Given the description of an element on the screen output the (x, y) to click on. 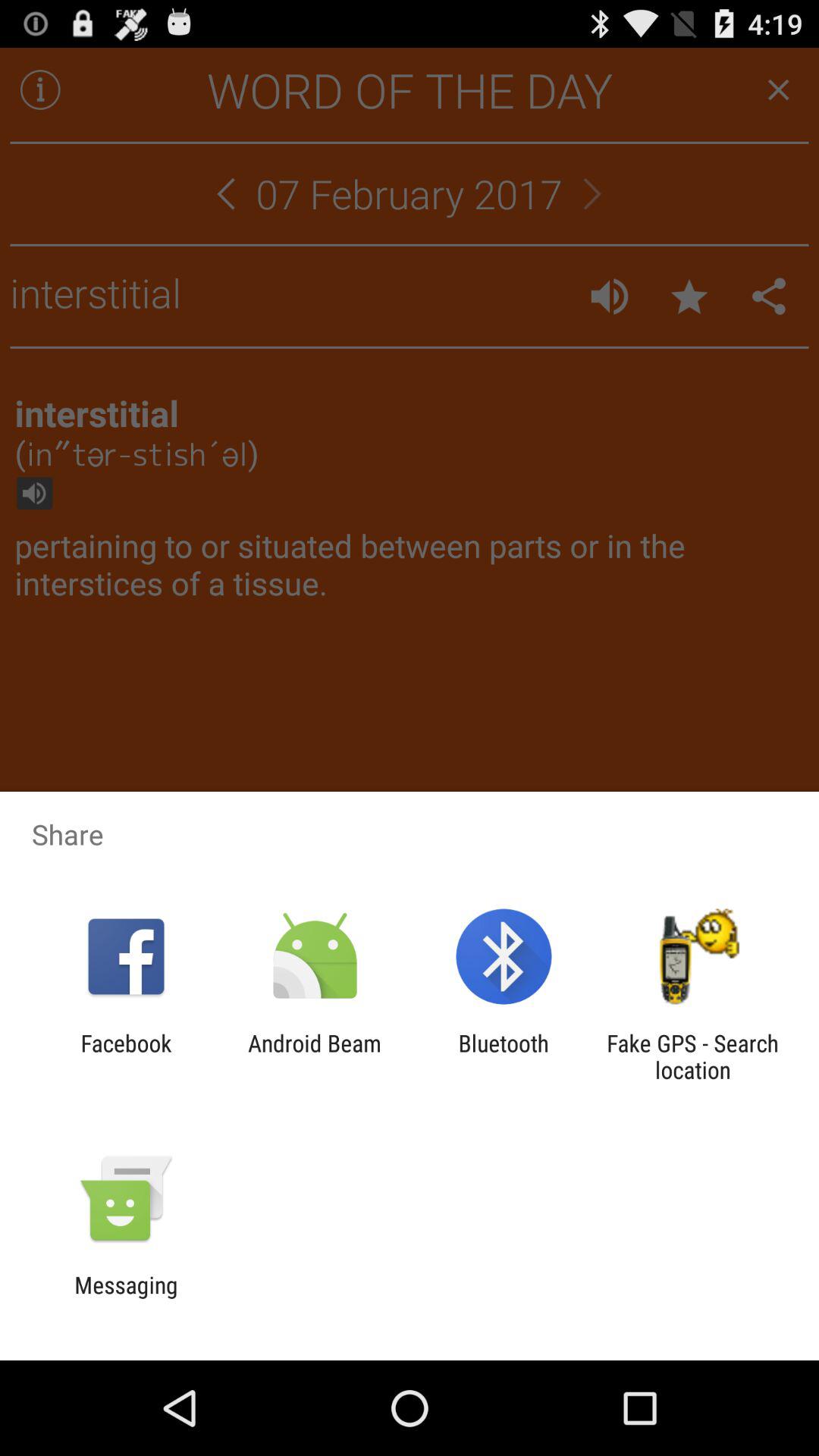
launch the item at the bottom right corner (692, 1056)
